Given the description of an element on the screen output the (x, y) to click on. 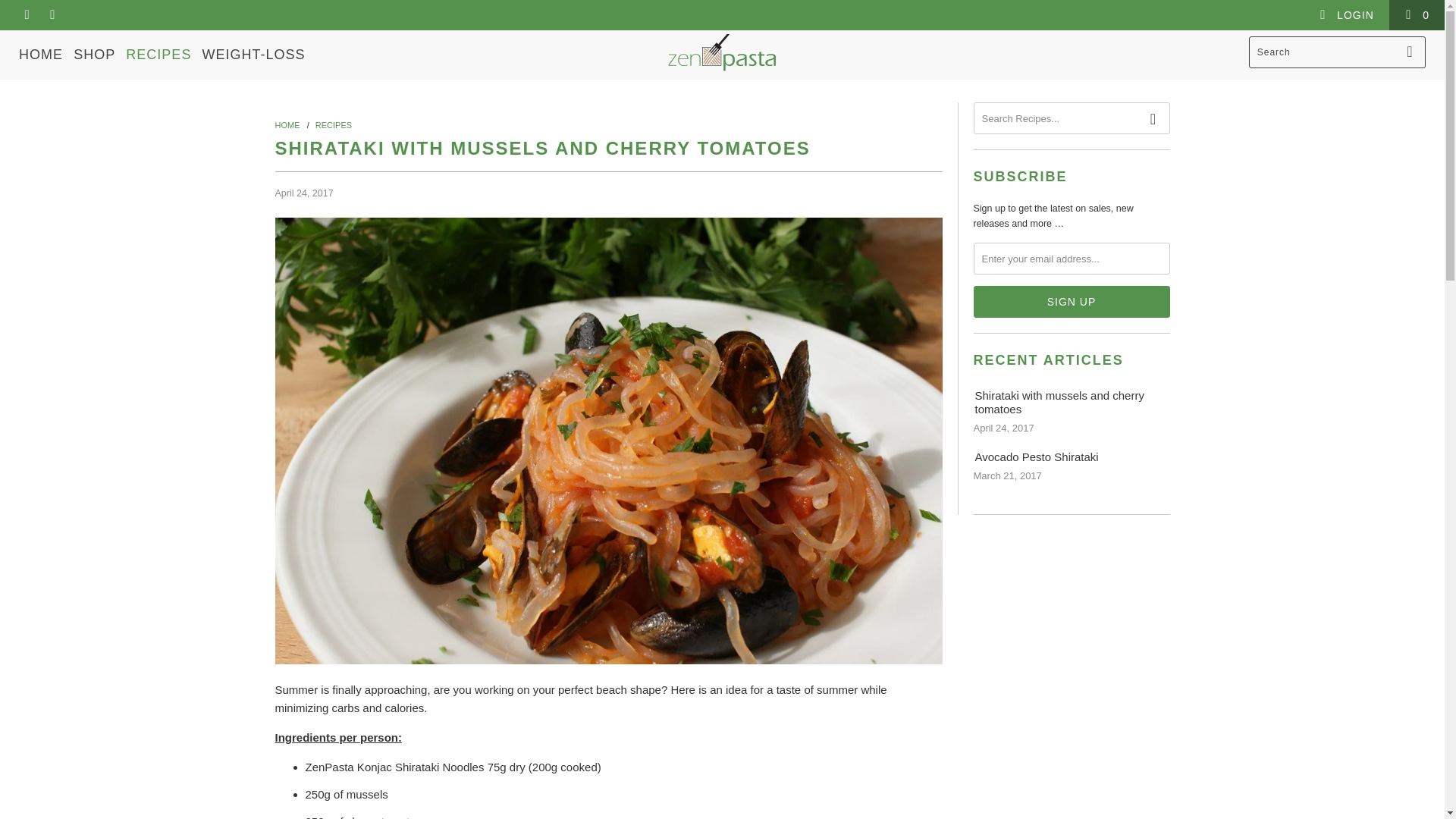
Recipes (333, 124)
My Account  (1345, 15)
SHOP (94, 54)
Sign Up (1072, 301)
RECIPES (333, 124)
ZenPasta on Facebook (25, 15)
Email ZenPasta (52, 15)
ZenPasta (722, 52)
LOGIN (1345, 15)
HOME (40, 54)
